Given the description of an element on the screen output the (x, y) to click on. 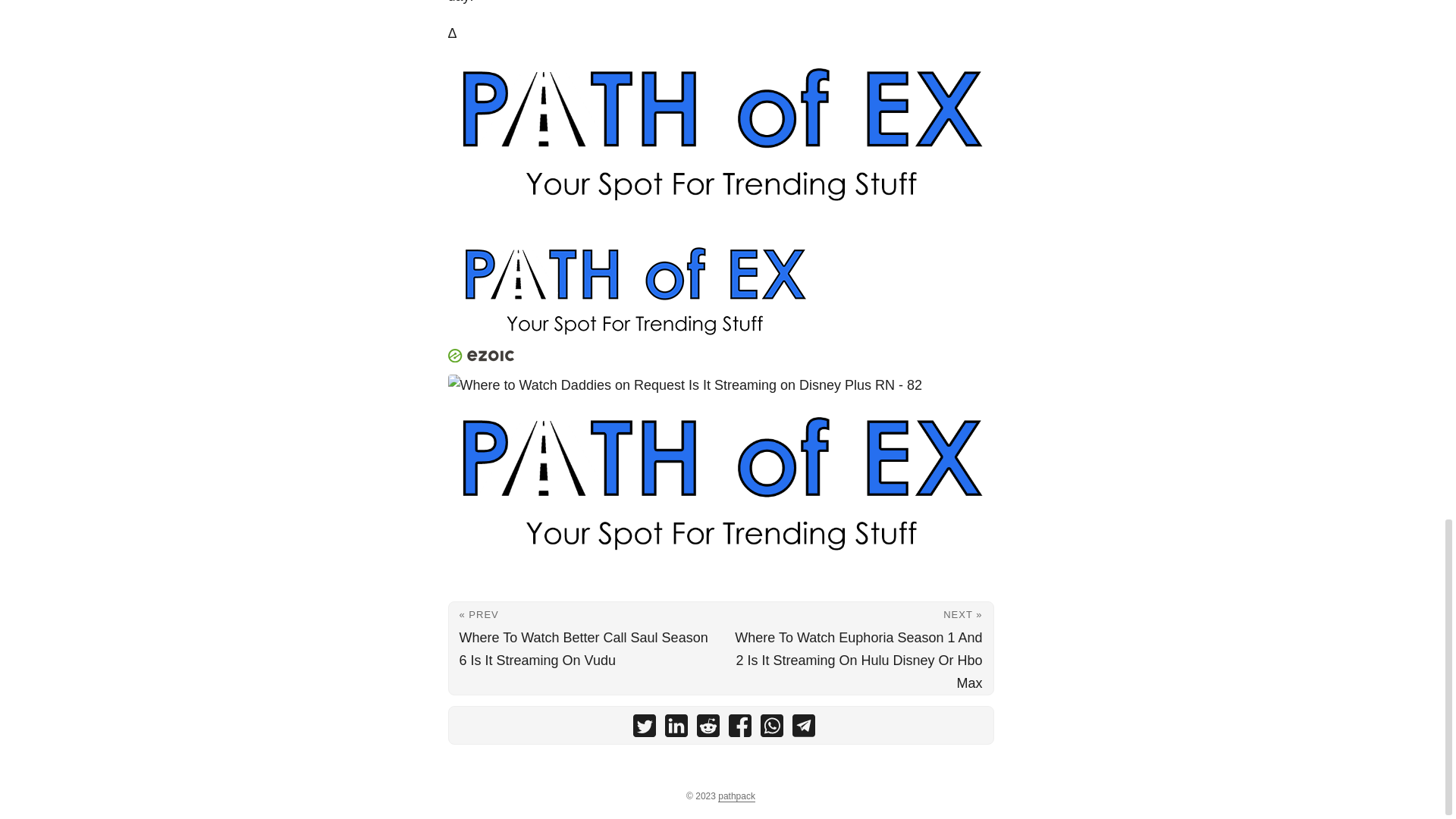
pathpack (736, 796)
